Given the description of an element on the screen output the (x, y) to click on. 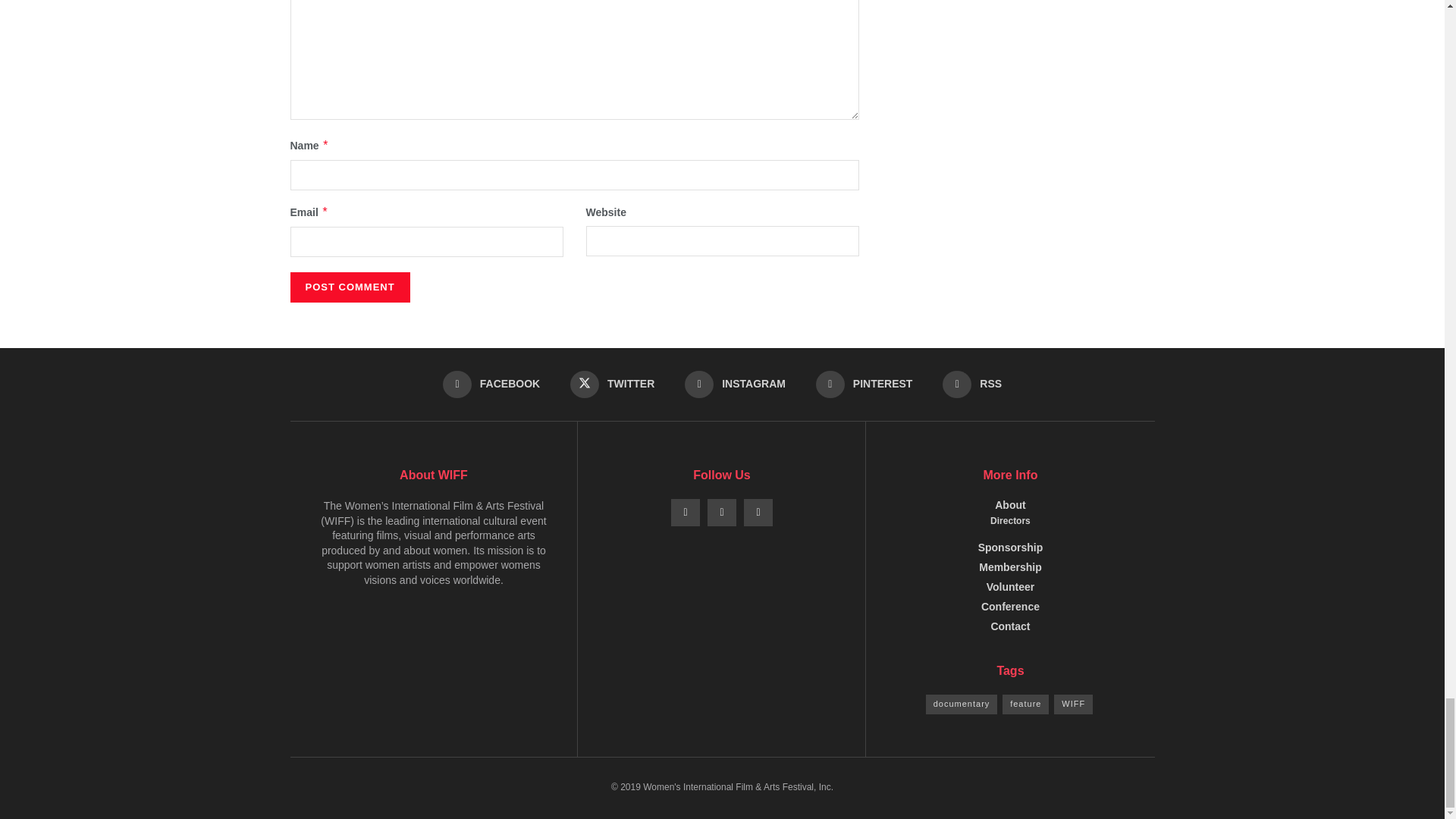
Post Comment (349, 286)
